Given the description of an element on the screen output the (x, y) to click on. 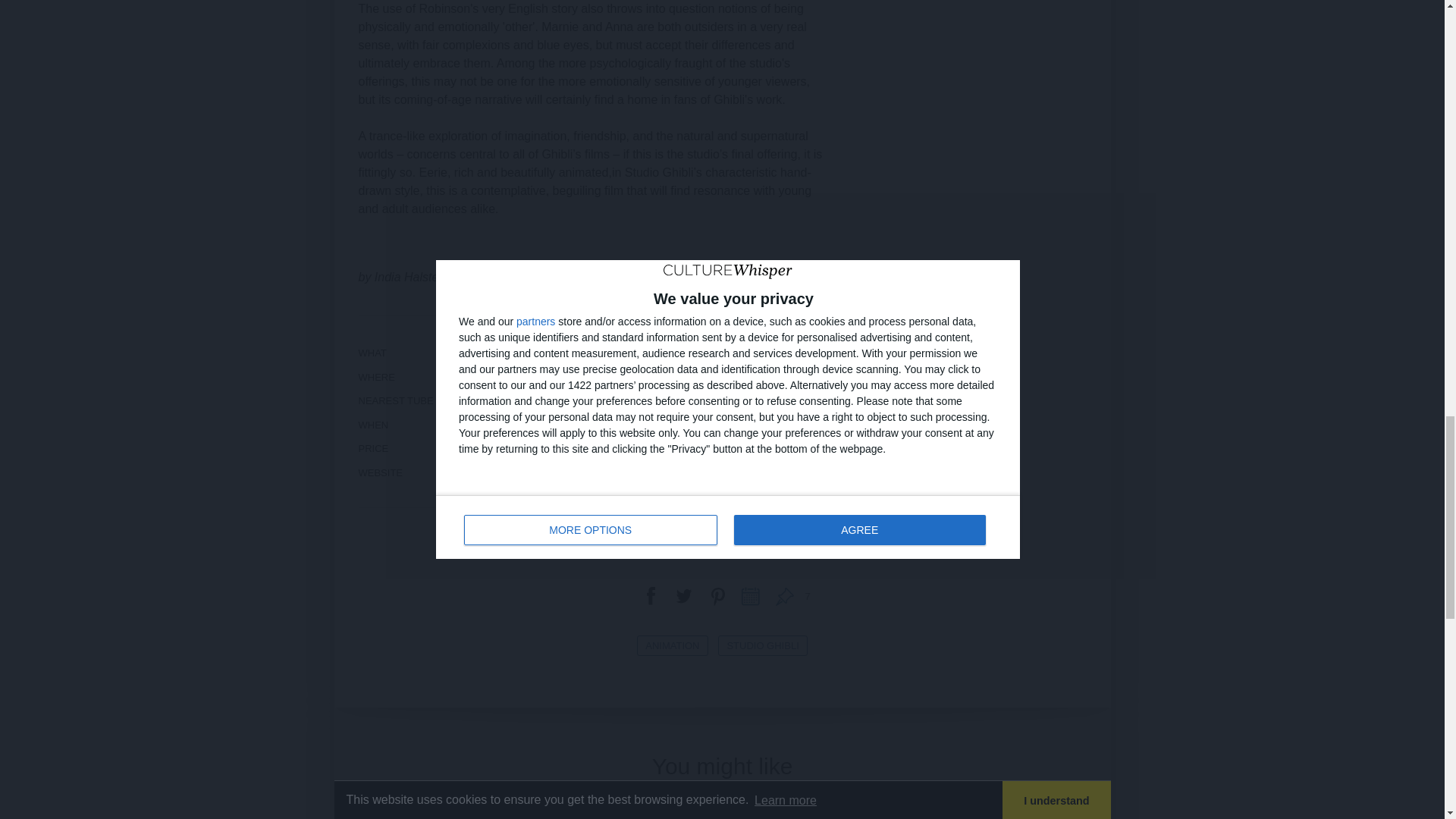
Pin this event to your planner (783, 595)
Get a reminder in your personal calendar (750, 595)
